Given the description of an element on the screen output the (x, y) to click on. 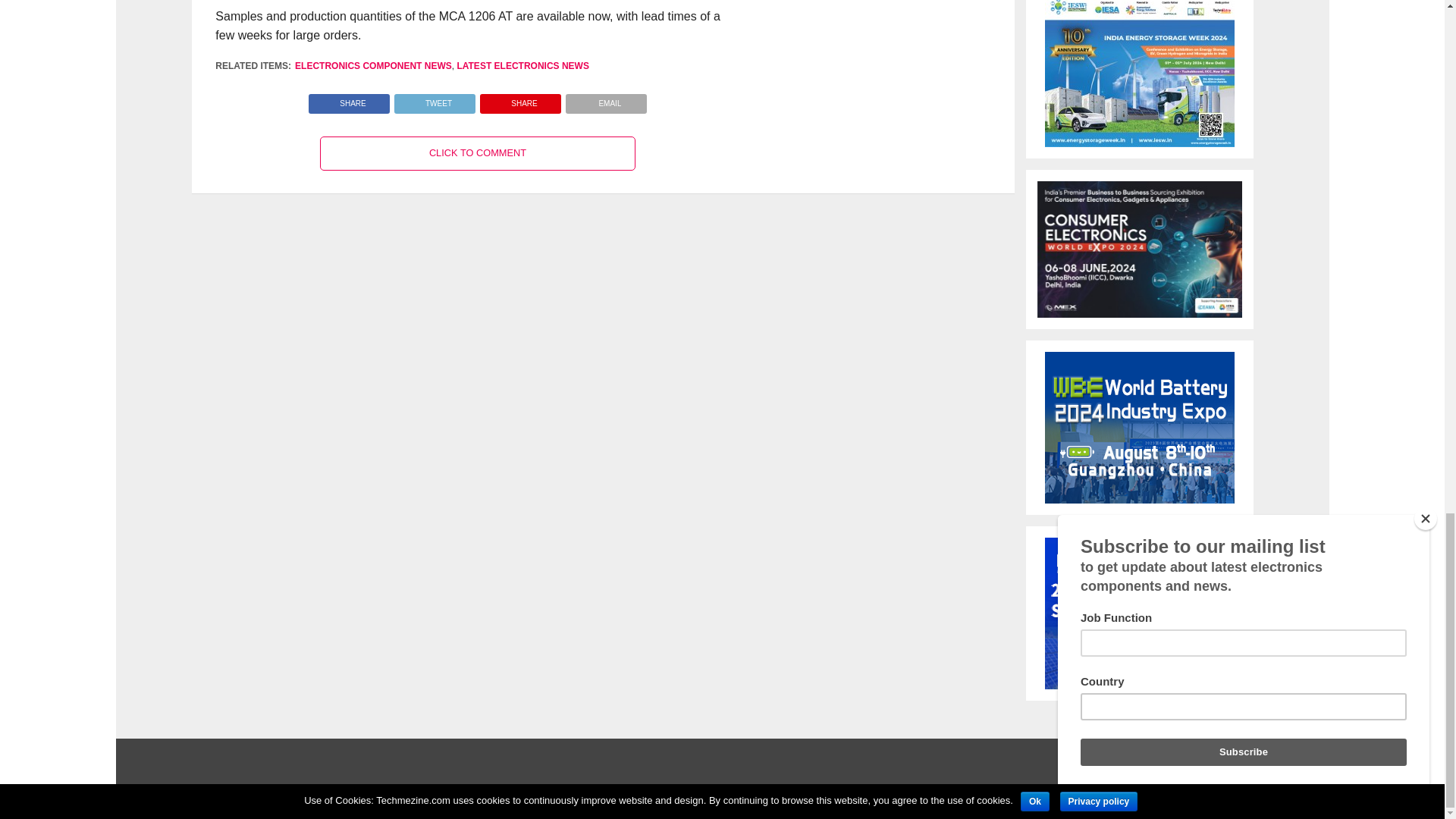
Pin This Post (520, 99)
Tweet This Post (434, 99)
Share on Facebook (349, 99)
